Given the description of an element on the screen output the (x, y) to click on. 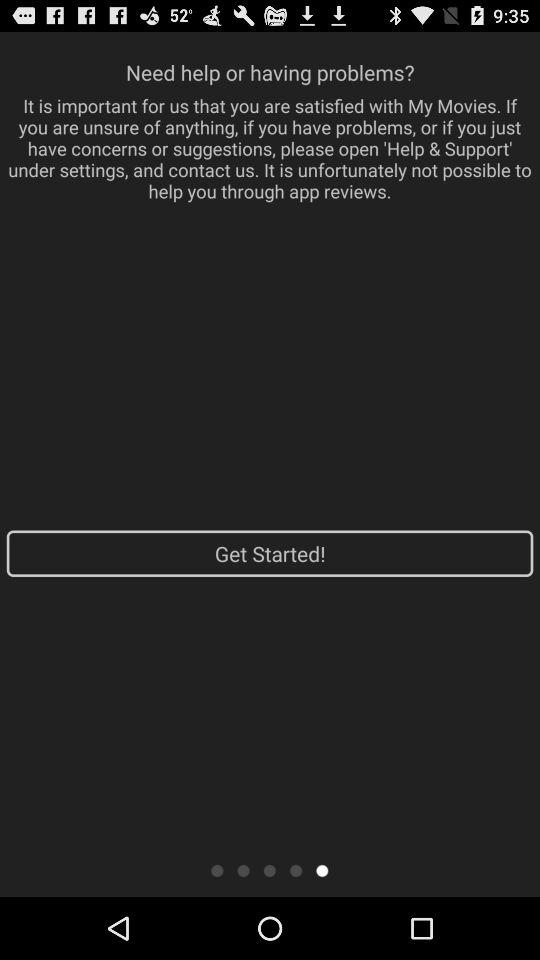
switch to previous page (295, 870)
